Given the description of an element on the screen output the (x, y) to click on. 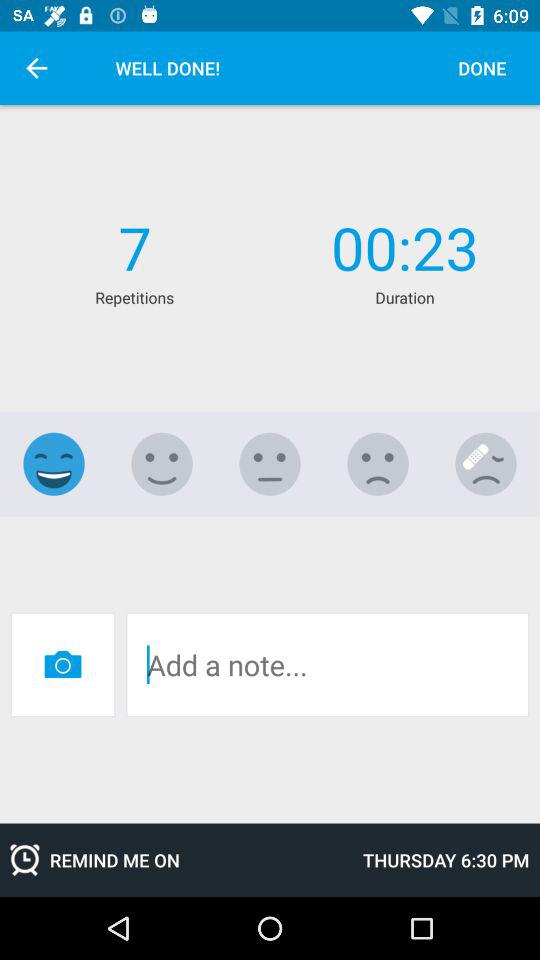
press item to the left of the well done! icon (36, 68)
